Given the description of an element on the screen output the (x, y) to click on. 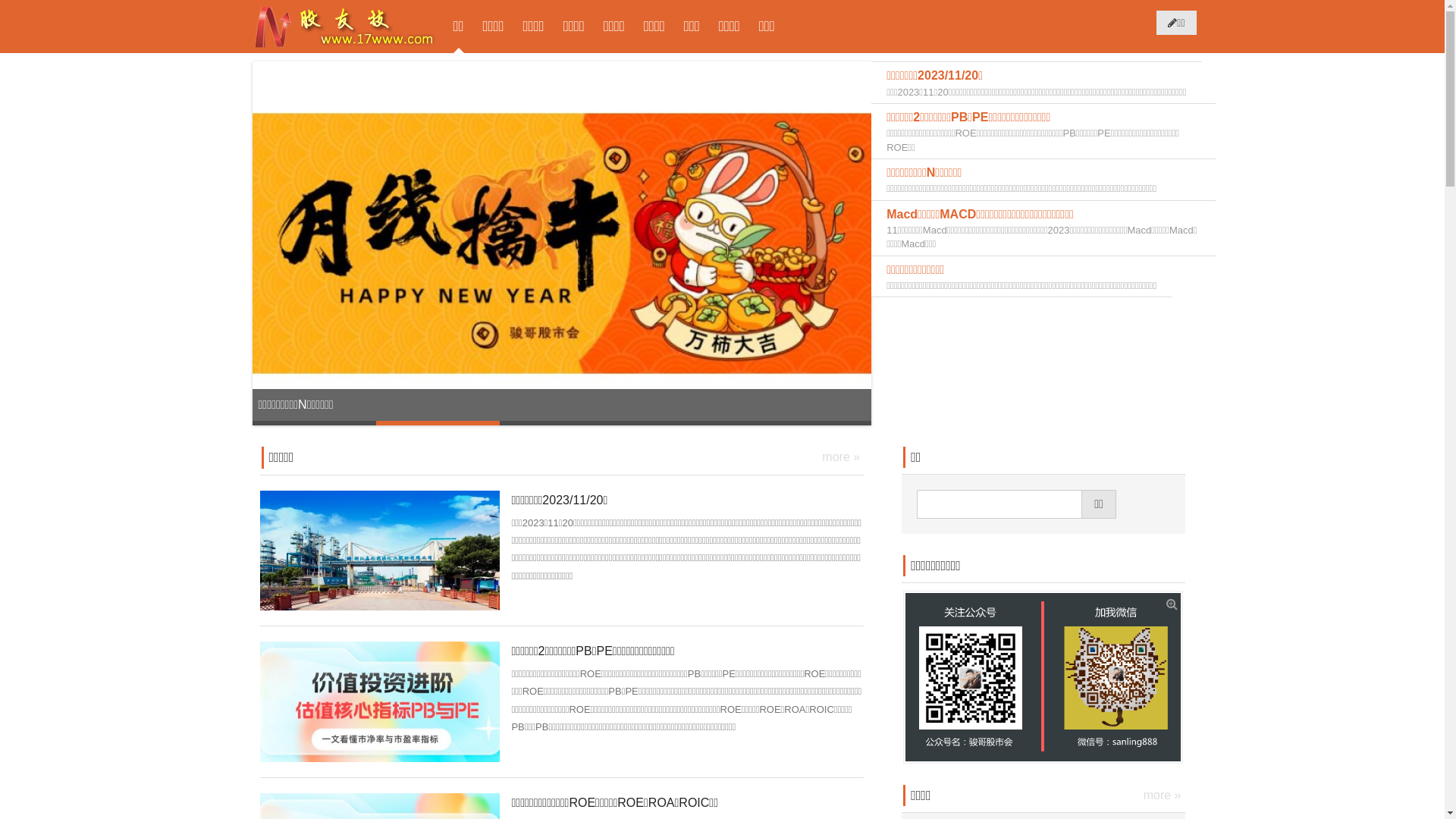
2 Element type: text (437, 422)
4 Element type: text (684, 422)
1 Element type: text (313, 422)
5 Element type: text (809, 422)
3 Element type: text (561, 422)
